Given the description of an element on the screen output the (x, y) to click on. 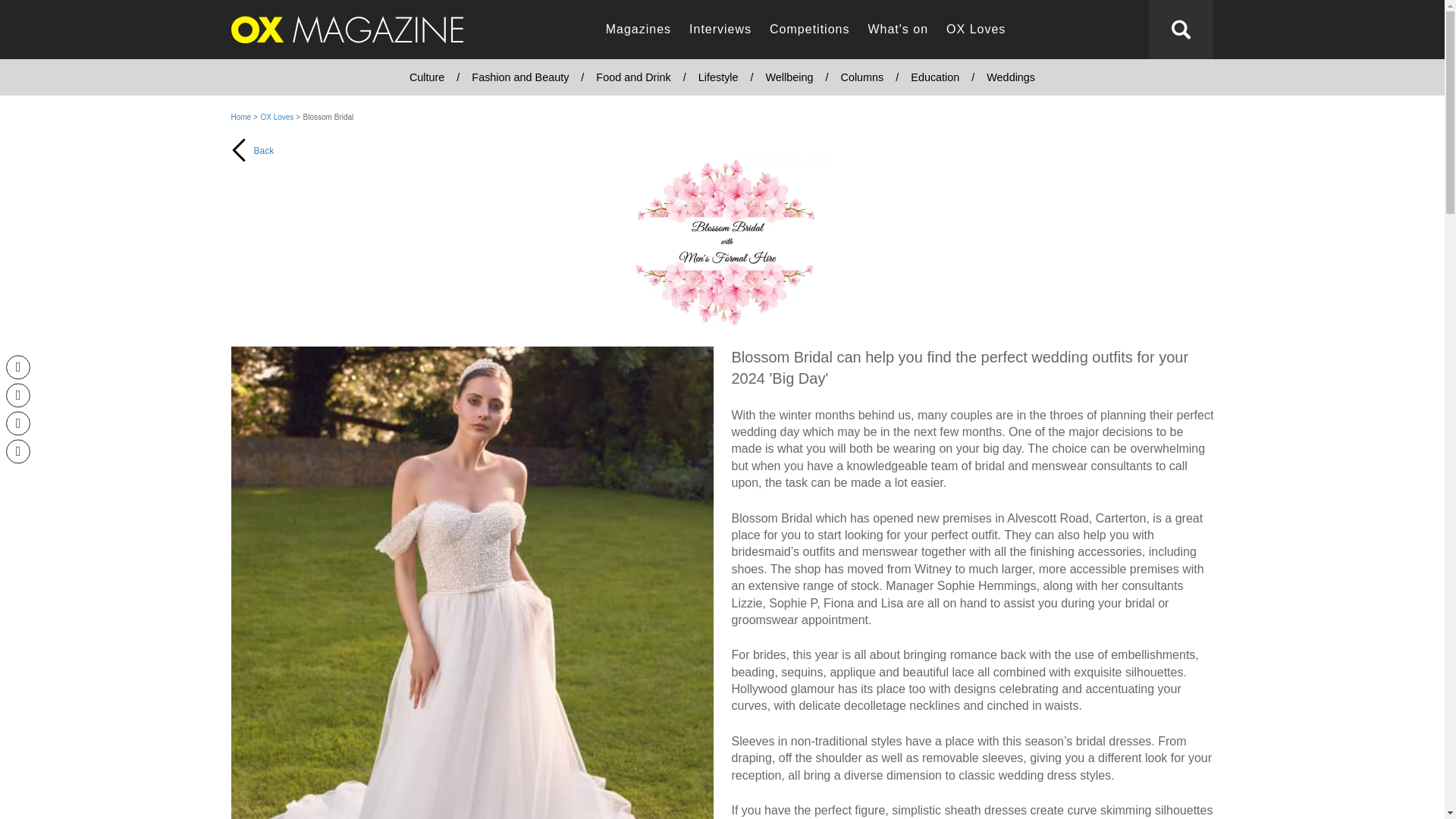
Weddings (1010, 77)
What's on (898, 29)
Competitions (809, 29)
Magazines (637, 29)
Columns (861, 77)
Lifestyle (718, 77)
Culture (427, 77)
Interviews (719, 29)
Fashion and Beauty (520, 77)
Back (346, 241)
Home (240, 117)
Wellbeing (789, 77)
OX Loves (975, 29)
Education (934, 77)
OX Loves (277, 117)
